Given the description of an element on the screen output the (x, y) to click on. 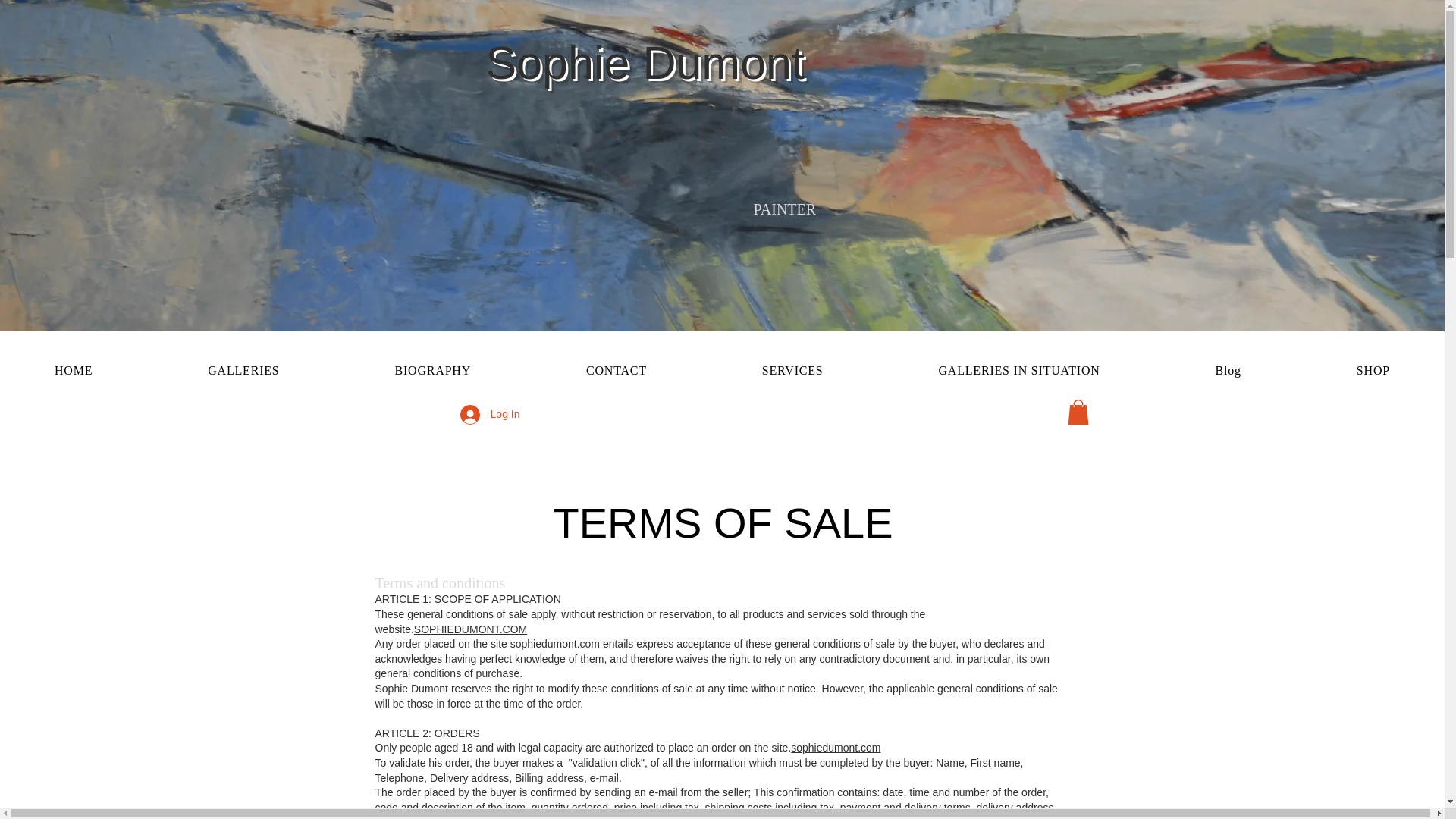
GALLERIES (242, 370)
HOME (73, 370)
Log In (490, 414)
BIOGRAPHY (432, 370)
SHOP (1372, 370)
Blog (1227, 370)
GALLERIES IN SITUATION (1018, 370)
CONTACT (616, 370)
sophiedumont.com (835, 747)
SERVICES (792, 370)
